Given the description of an element on the screen output the (x, y) to click on. 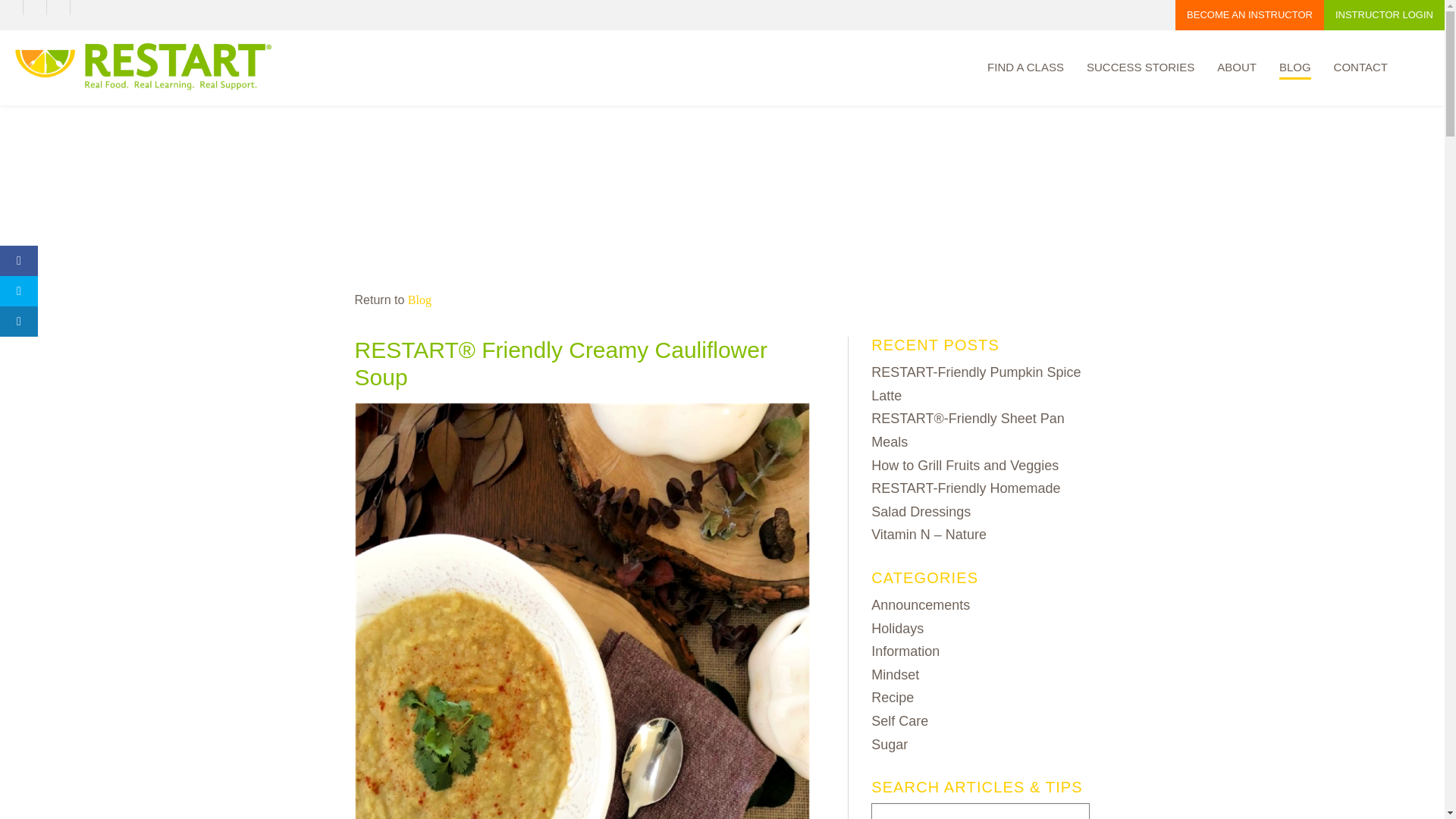
Self Care (899, 720)
FIND A CLASS (1025, 69)
Blog (418, 299)
How to Grill Fruits and Veggies (964, 465)
Announcements (919, 604)
RESTART-Friendly Pumpkin Spice Latte (975, 383)
Sugar (888, 744)
Recipe (892, 697)
BECOME AN INSTRUCTOR (1248, 15)
ABOUT (1236, 69)
